Given the description of an element on the screen output the (x, y) to click on. 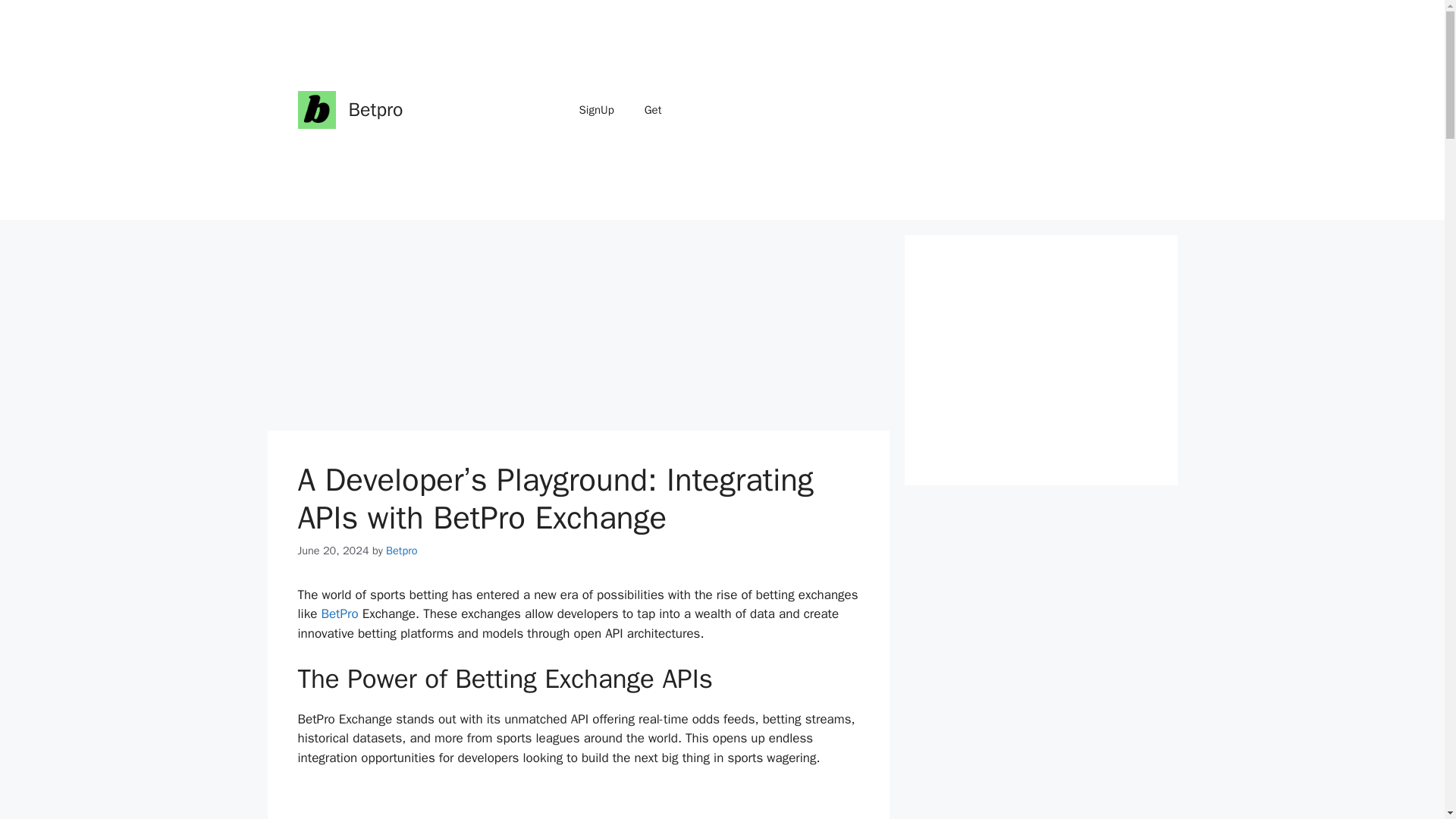
Betpro (401, 550)
View all posts by Betpro (401, 550)
Get (652, 109)
Betpro (376, 109)
SignUp (596, 109)
BetPro (340, 613)
